Given the description of an element on the screen output the (x, y) to click on. 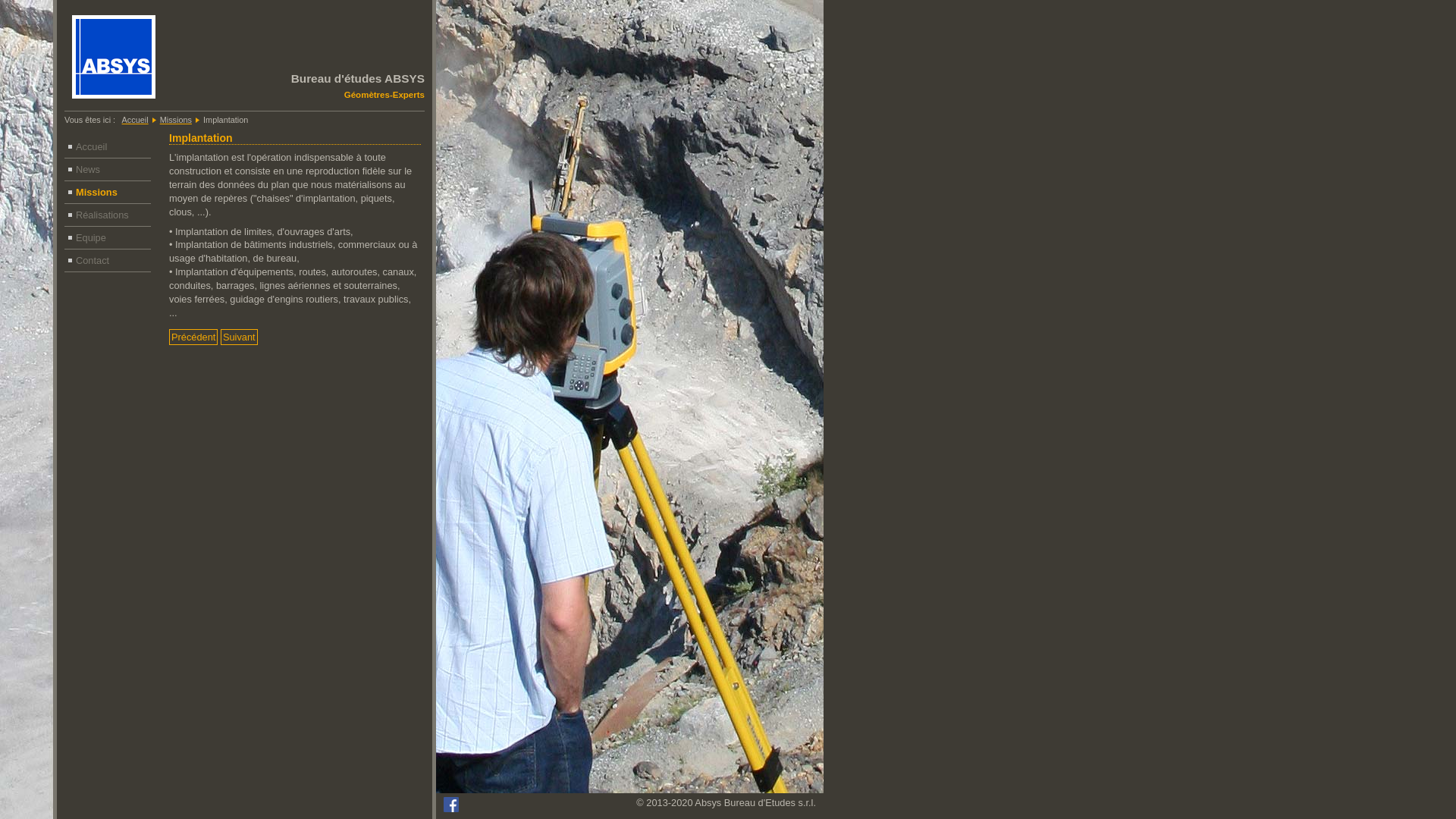
Suivant Element type: text (238, 337)
Contact Element type: text (107, 260)
Accueil Element type: text (107, 146)
News Element type: text (107, 169)
Accueil Element type: text (135, 119)
Equipe Element type: text (107, 237)
Missions Element type: text (175, 119)
Retrouvez-nous sur Facebook Element type: hover (450, 808)
Missions Element type: text (107, 192)
